Given the description of an element on the screen output the (x, y) to click on. 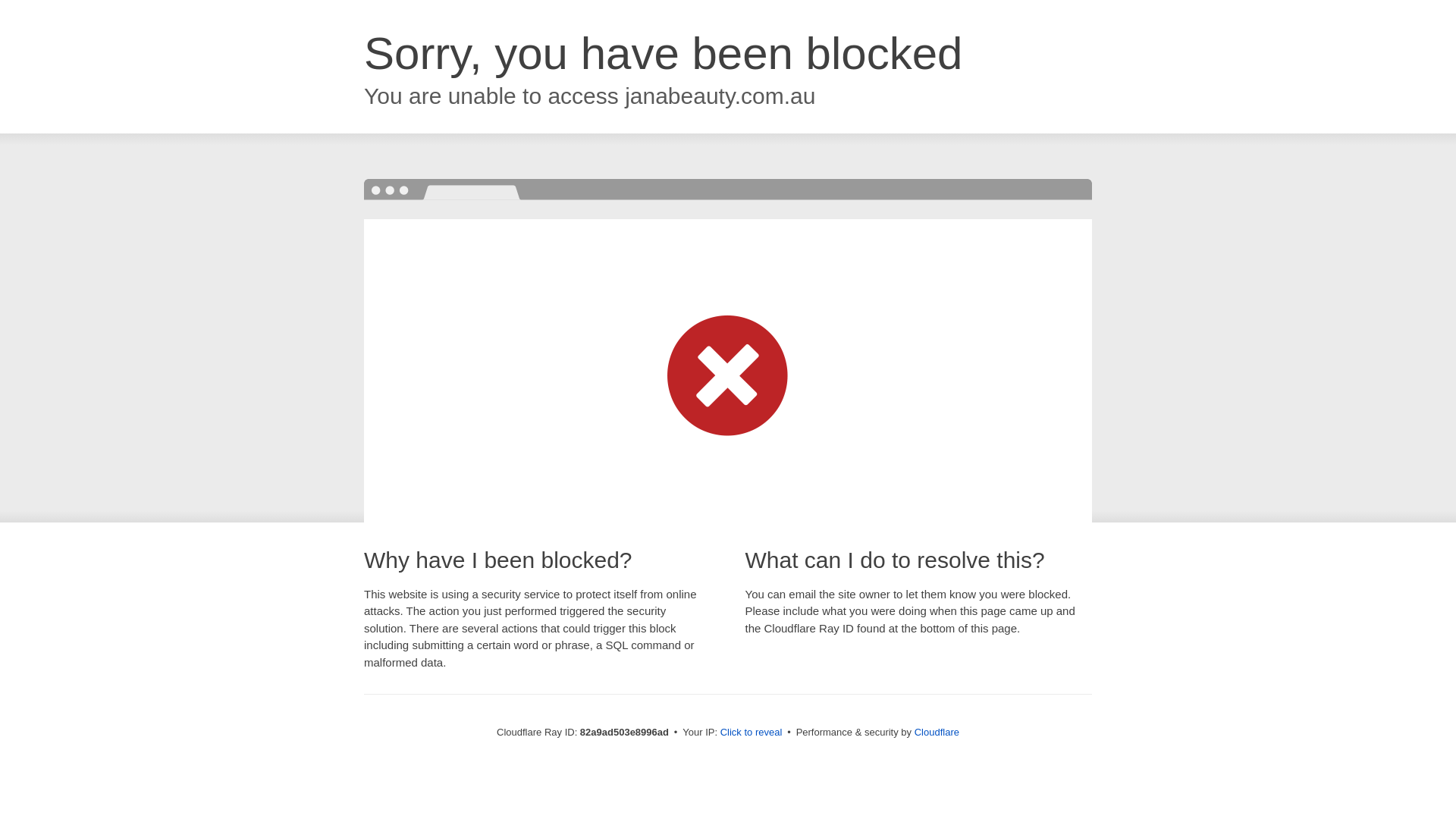
Cloudflare Element type: text (936, 731)
Click to reveal Element type: text (751, 732)
